Given the description of an element on the screen output the (x, y) to click on. 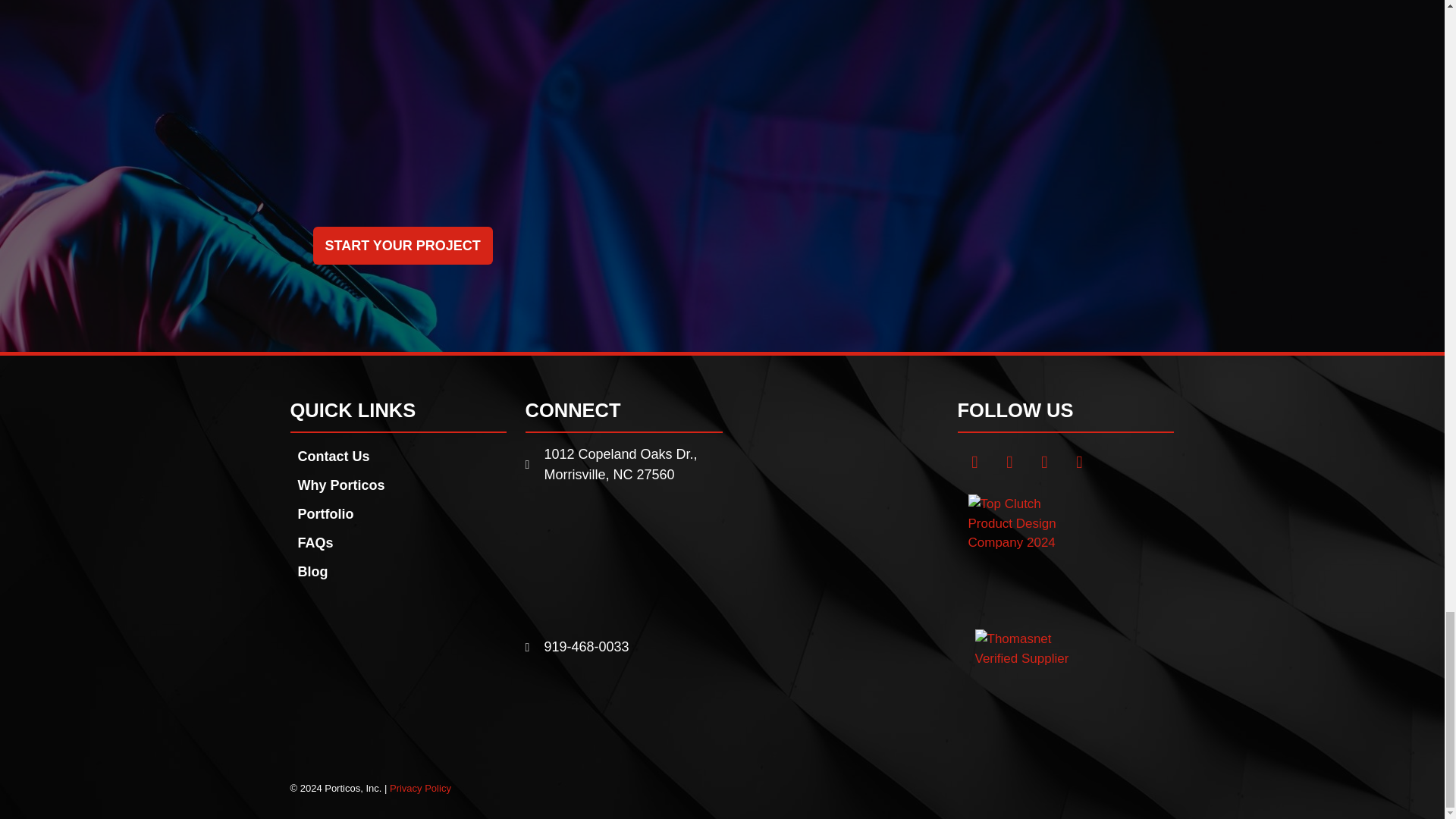
1012 Copeland Oaks Drive, Morrisville, NC 27560 (623, 560)
